Given the description of an element on the screen output the (x, y) to click on. 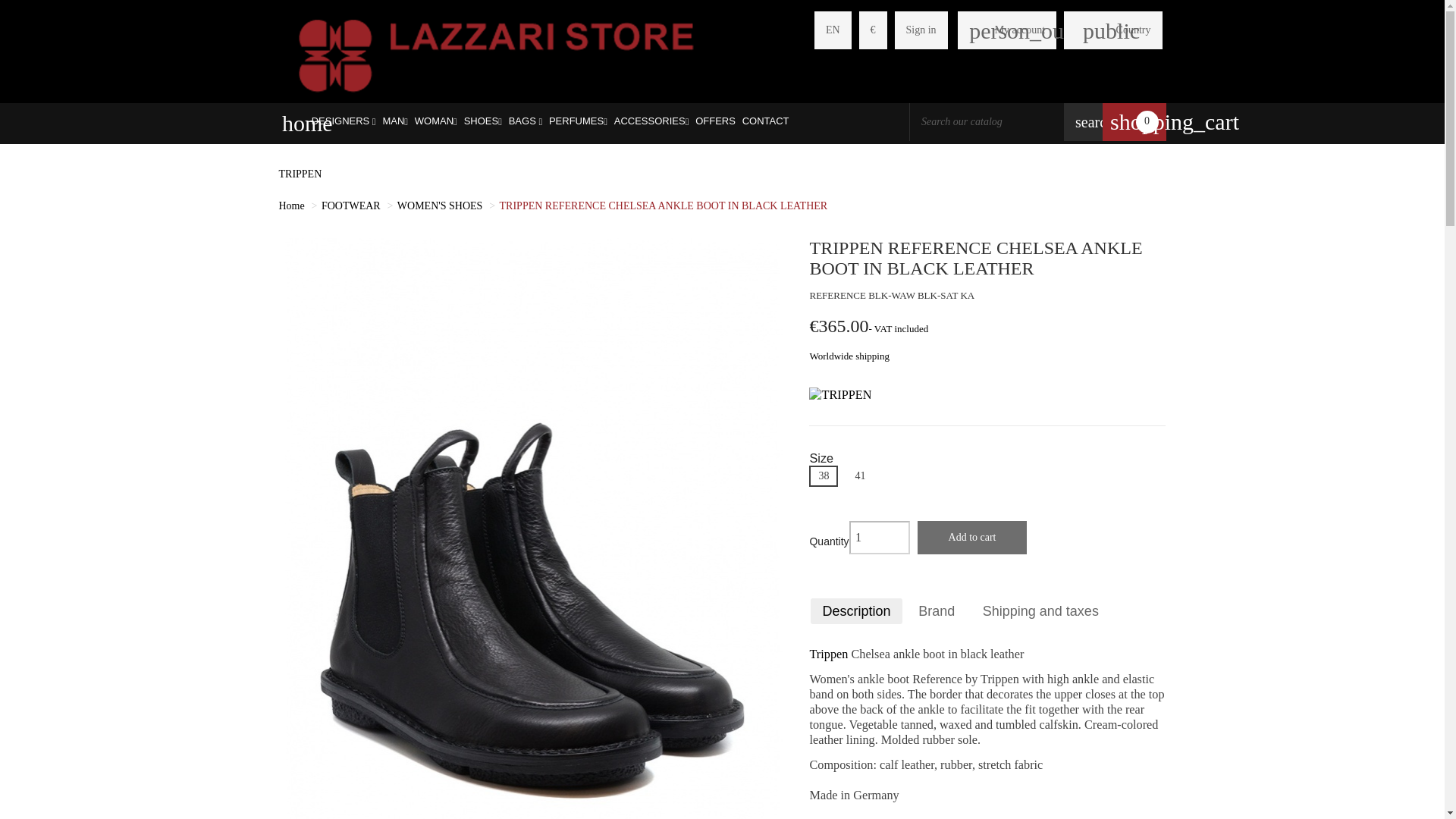
Sign in (921, 30)
Choose here the destination country (1133, 30)
Lazzari Store (496, 53)
public (1094, 29)
1 (879, 537)
Log in to your customer account (1007, 30)
Log in to your customer account (921, 30)
